Given the description of an element on the screen output the (x, y) to click on. 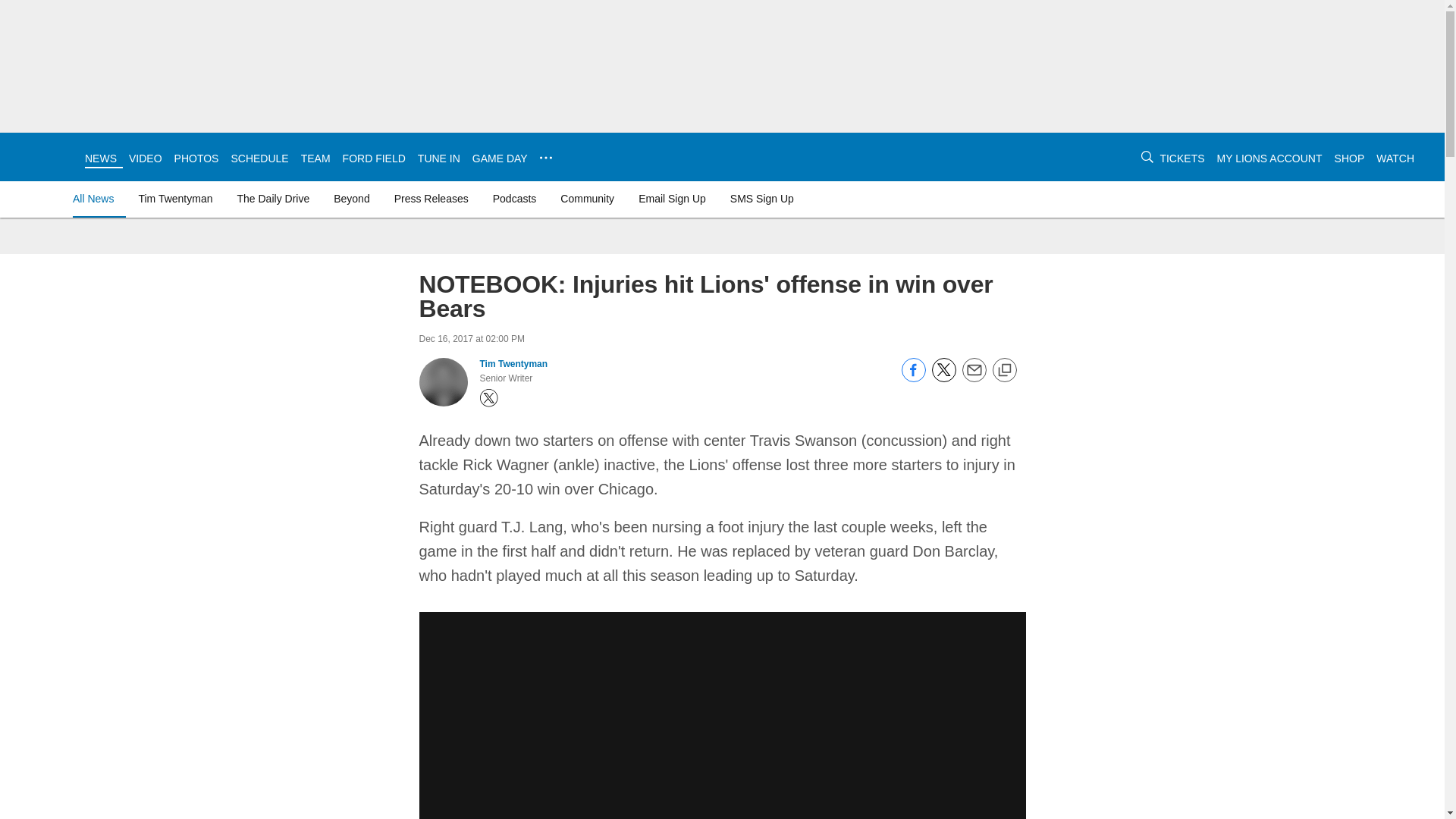
VIDEO (145, 158)
NEWS (100, 158)
SCHEDULE (259, 158)
TICKETS (1181, 158)
PHOTOS (196, 158)
MY LIONS ACCOUNT (1269, 158)
All News (95, 198)
TEAM (315, 158)
The Daily Drive (272, 198)
VIDEO (145, 158)
